Given the description of an element on the screen output the (x, y) to click on. 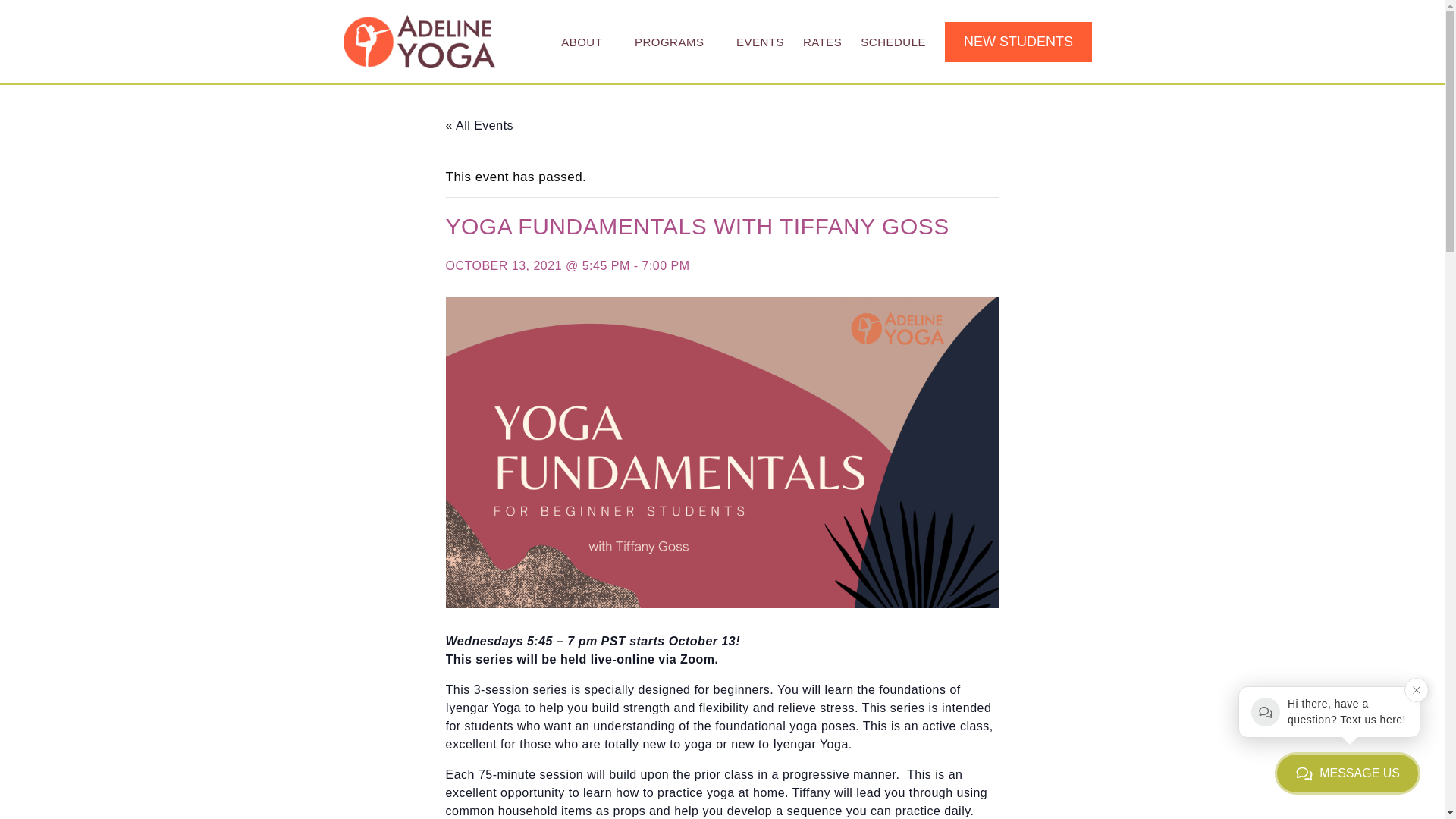
RATES (821, 41)
NEW STUDENTS (1018, 42)
ABOUT (584, 41)
SCHEDULE (893, 41)
EVENTS (759, 41)
PROGRAMS (671, 41)
NEW STUDENTS (1019, 41)
